Given the description of an element on the screen output the (x, y) to click on. 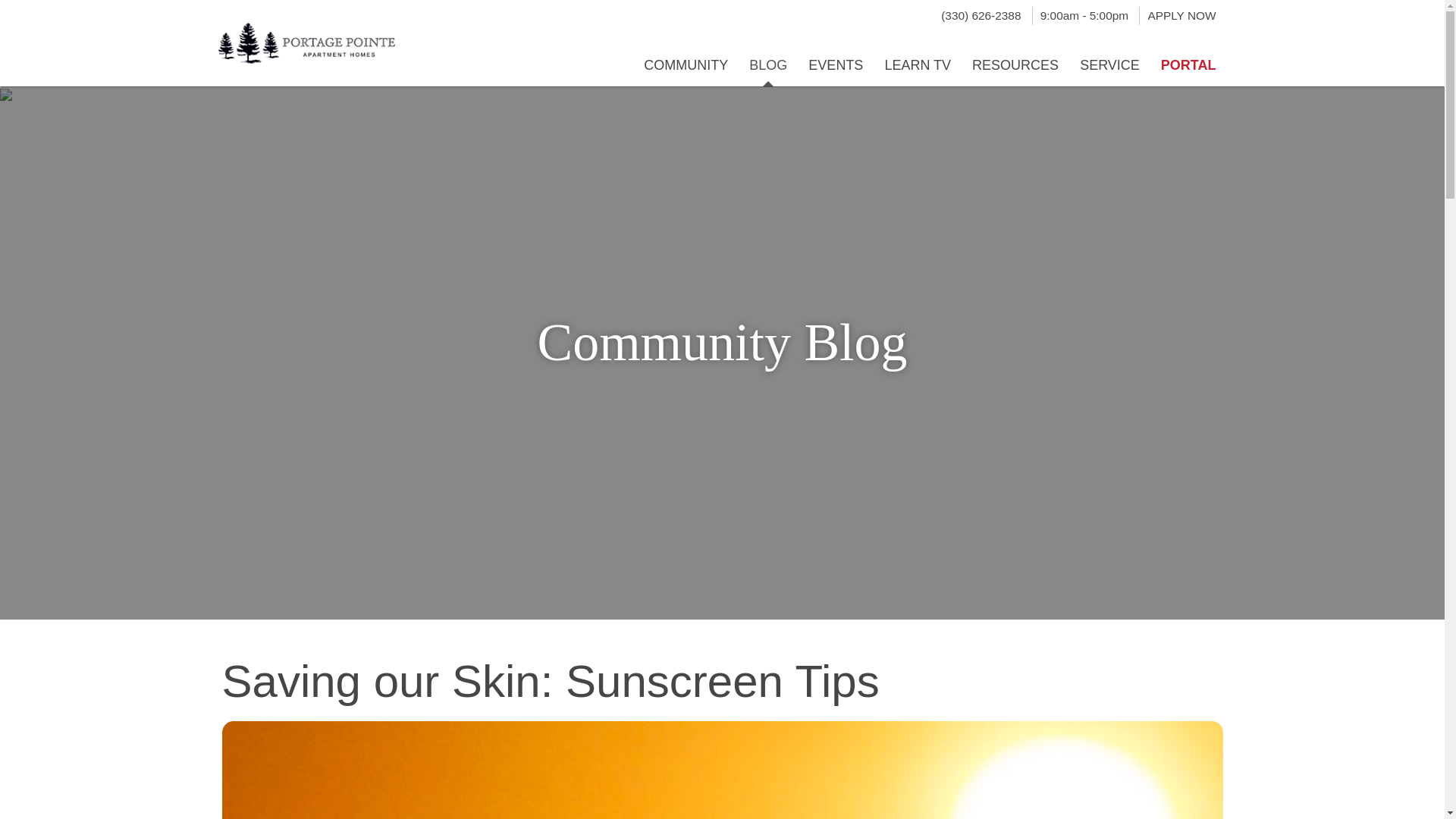
RESOURCES (1014, 58)
SERVICE (1109, 58)
COMMUNITY (685, 58)
PORTAL (1188, 58)
EVENTS (835, 58)
LEARN TV (916, 58)
APPLY NOW (1181, 15)
BLOG (767, 58)
